Given the description of an element on the screen output the (x, y) to click on. 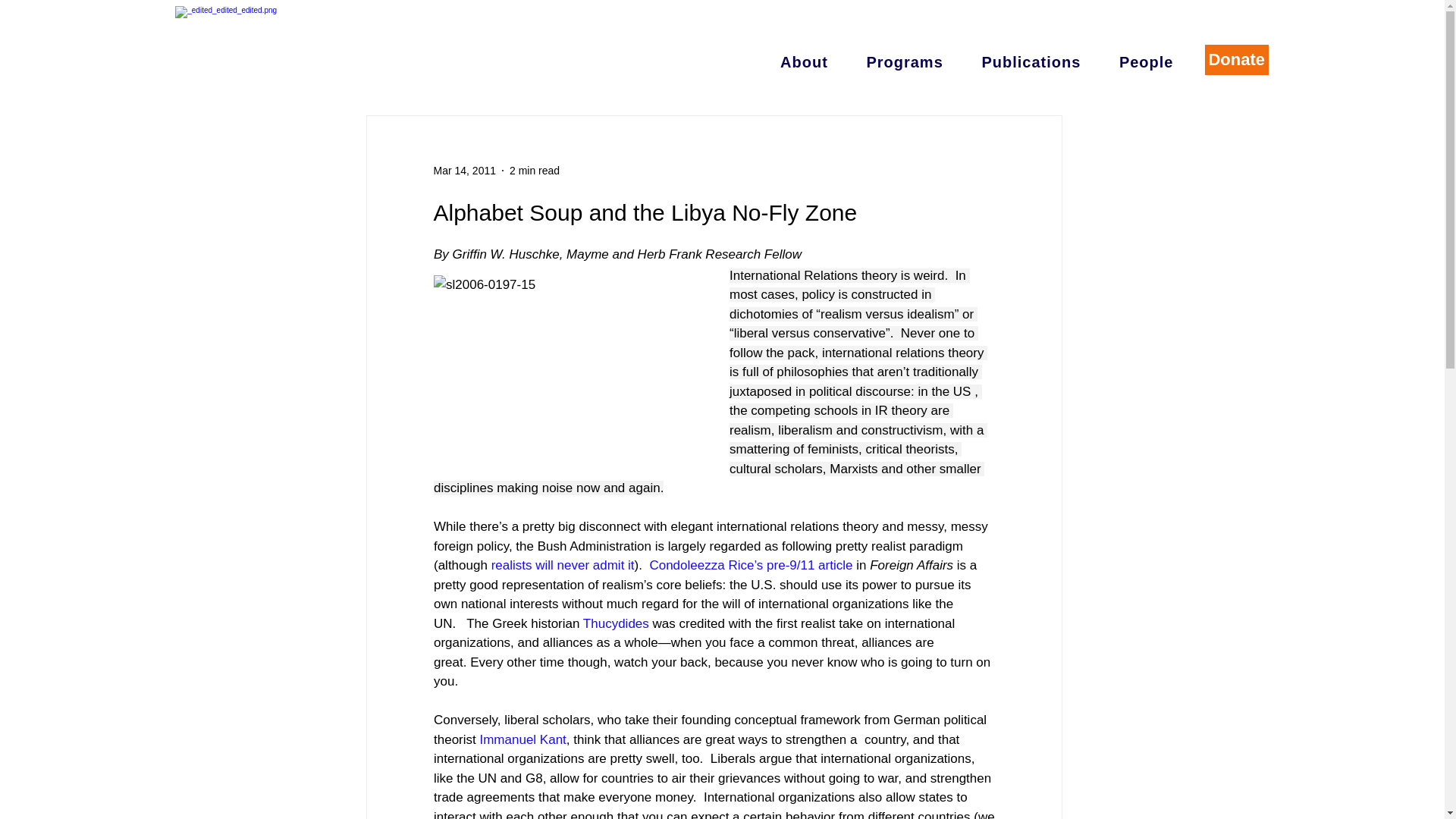
Thucydides (614, 622)
2 min read (534, 169)
Donate (1236, 60)
Immanuel Kant (522, 739)
ealists will never admit it (564, 564)
Mar 14, 2011 (464, 169)
